Given the description of an element on the screen output the (x, y) to click on. 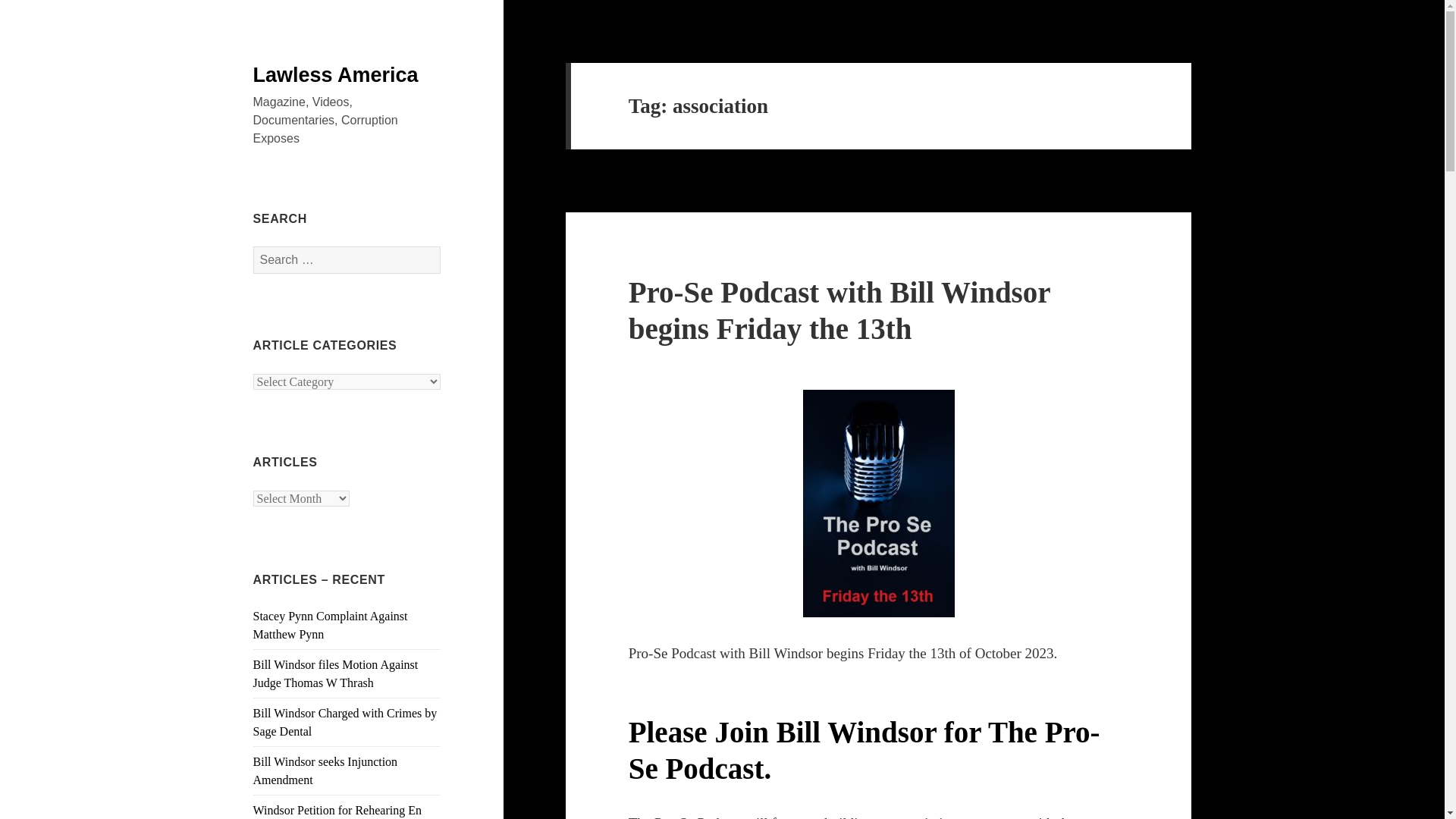
Bill Windsor Charged with Crimes by Sage Dental (345, 721)
Bill Windsor files Motion Against Judge Thomas W Thrash (336, 673)
Windsor Petition for Rehearing En Banc (337, 811)
Stacey Pynn Complaint Against Matthew Pynn (330, 624)
Lawless America (336, 74)
Bill Windsor seeks Injunction Amendment (325, 770)
